Given the description of an element on the screen output the (x, y) to click on. 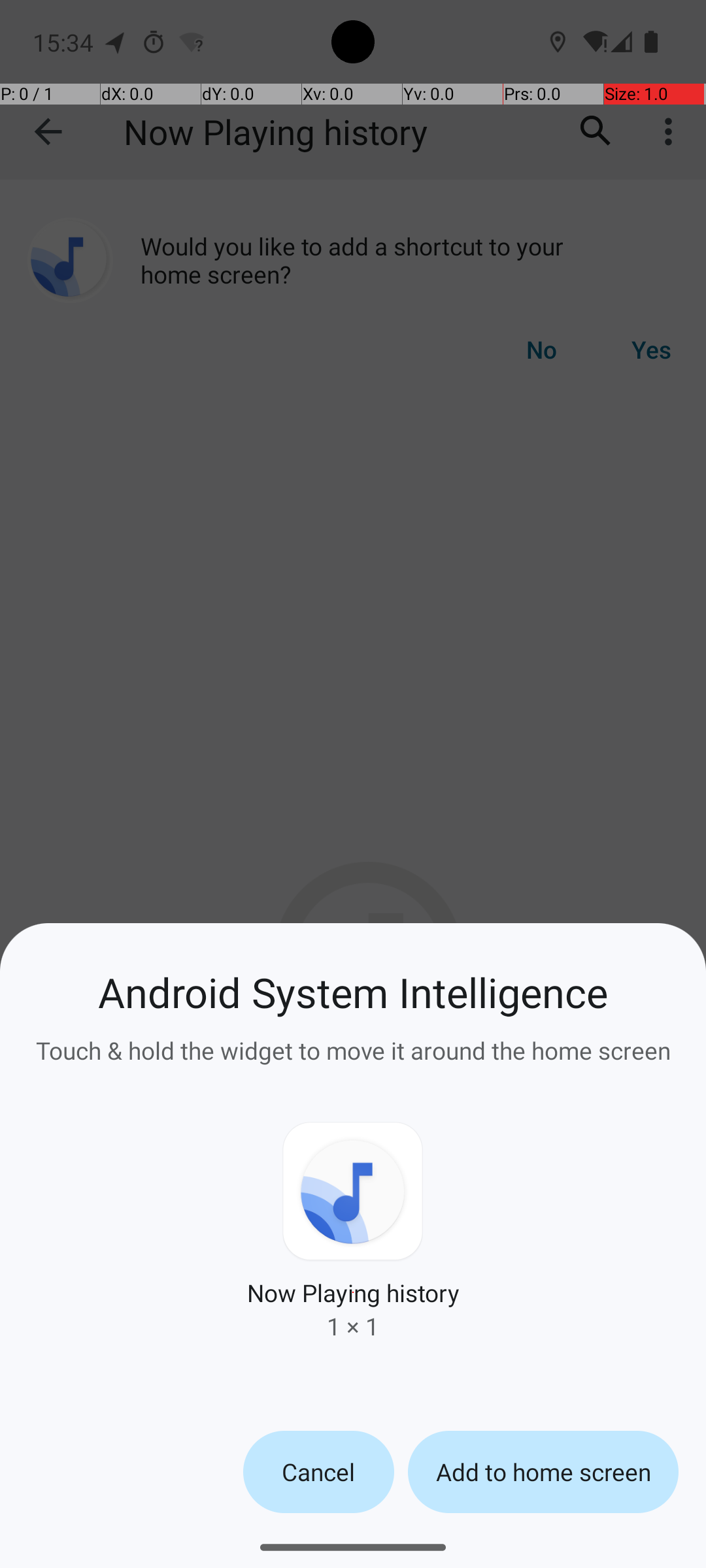
Touch & hold the widget to move it around the home screen Element type: android.widget.TextView (352, 1042)
Add to home screen Element type: android.widget.Button (542, 1471)
Now Playing history Element type: android.widget.TextView (352, 1292)
1 × 1 Element type: android.widget.TextView (352, 1325)
